Given the description of an element on the screen output the (x, y) to click on. 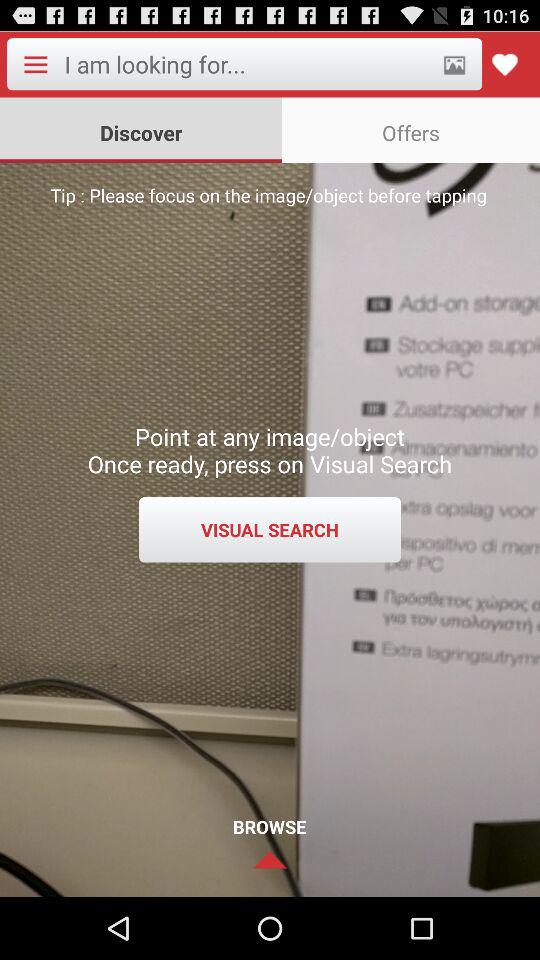
open photo gallery (453, 63)
